Given the description of an element on the screen output the (x, y) to click on. 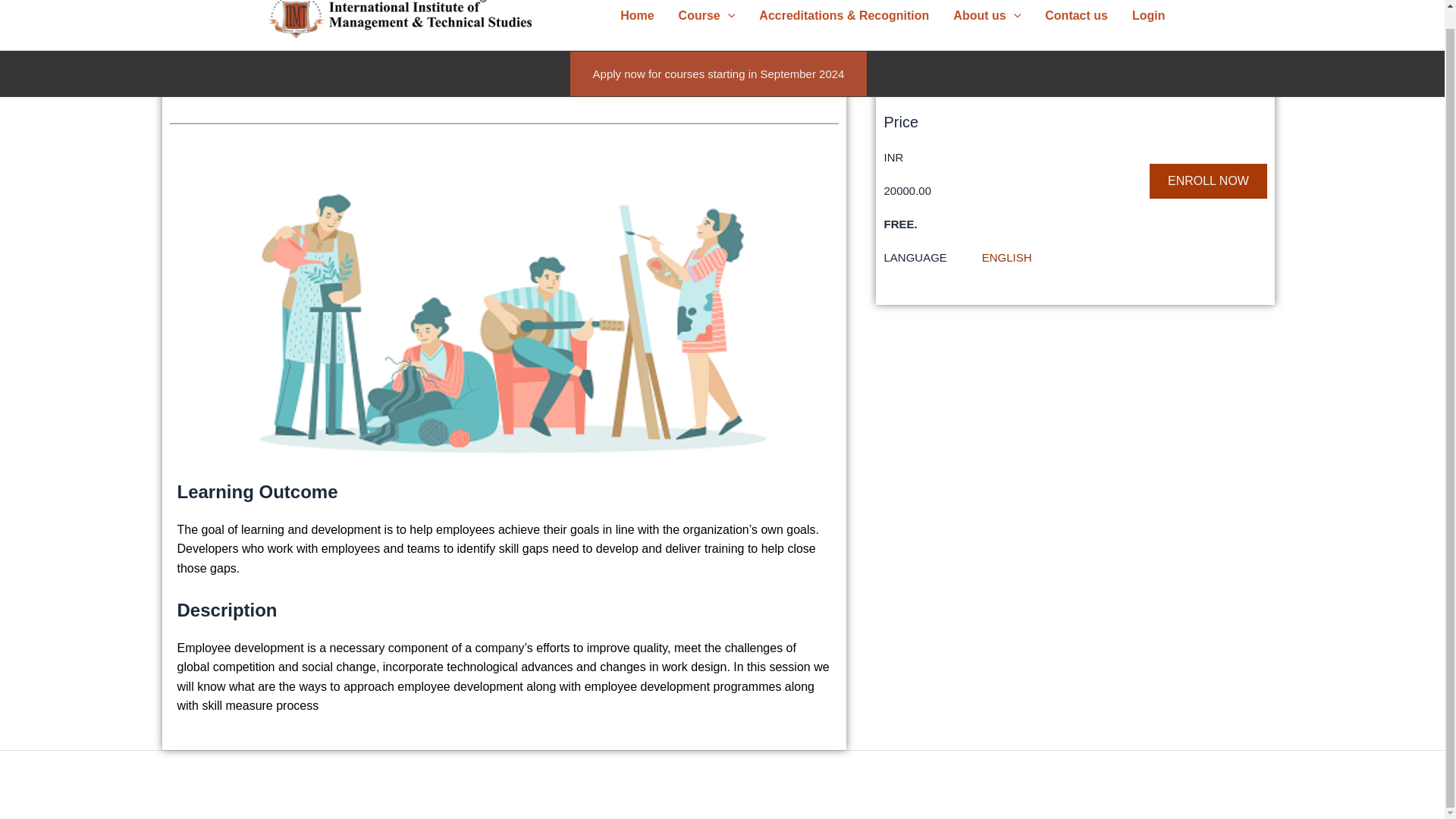
Contact us (1075, 21)
Home (636, 21)
Course (707, 21)
Apply now for courses starting in September 2024 (718, 73)
Login (1148, 21)
About us (986, 21)
